Given the description of an element on the screen output the (x, y) to click on. 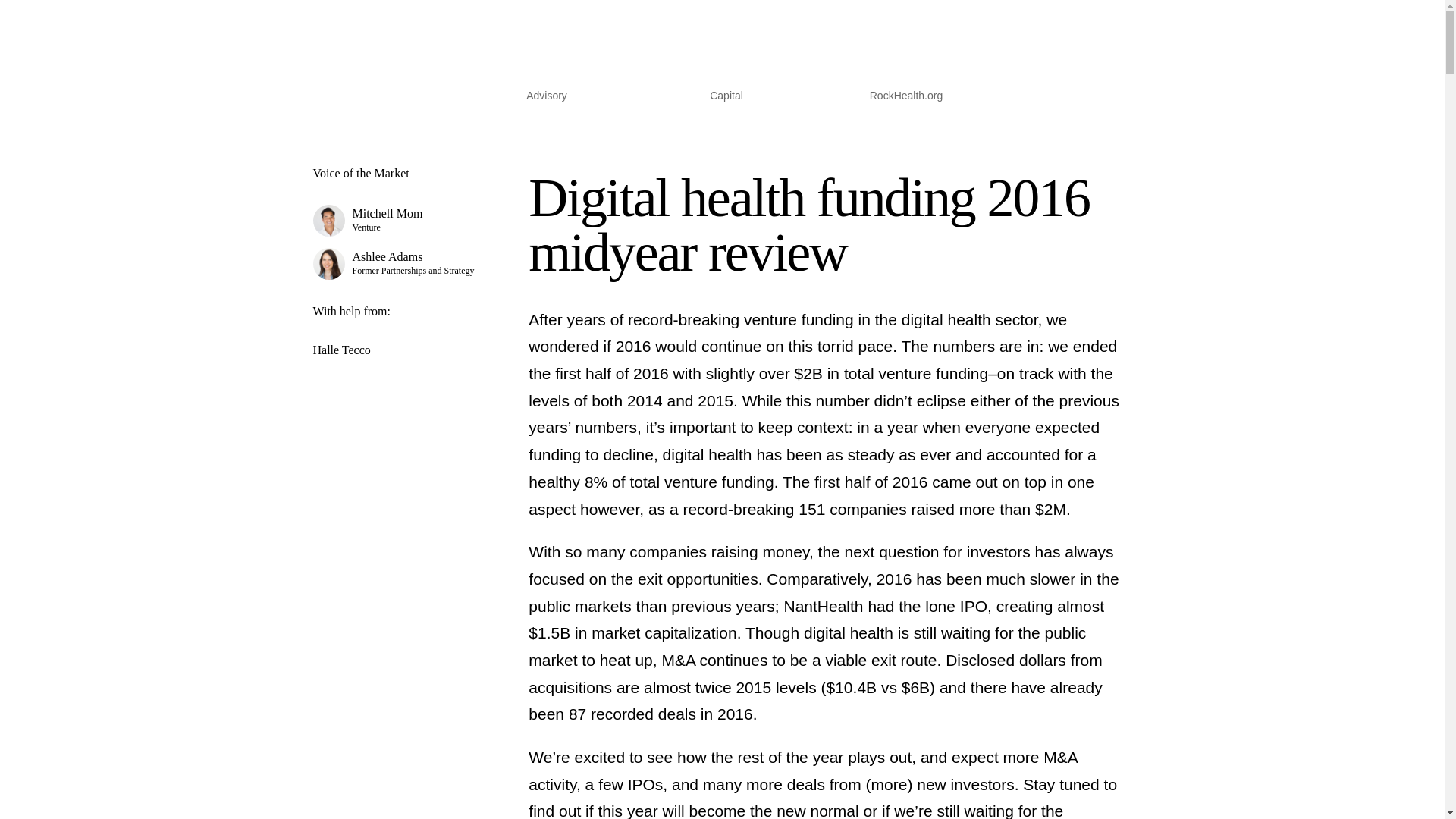
RockHealth.org (906, 98)
Capital (726, 98)
Halle Tecco (398, 220)
Advisory (398, 264)
